Given the description of an element on the screen output the (x, y) to click on. 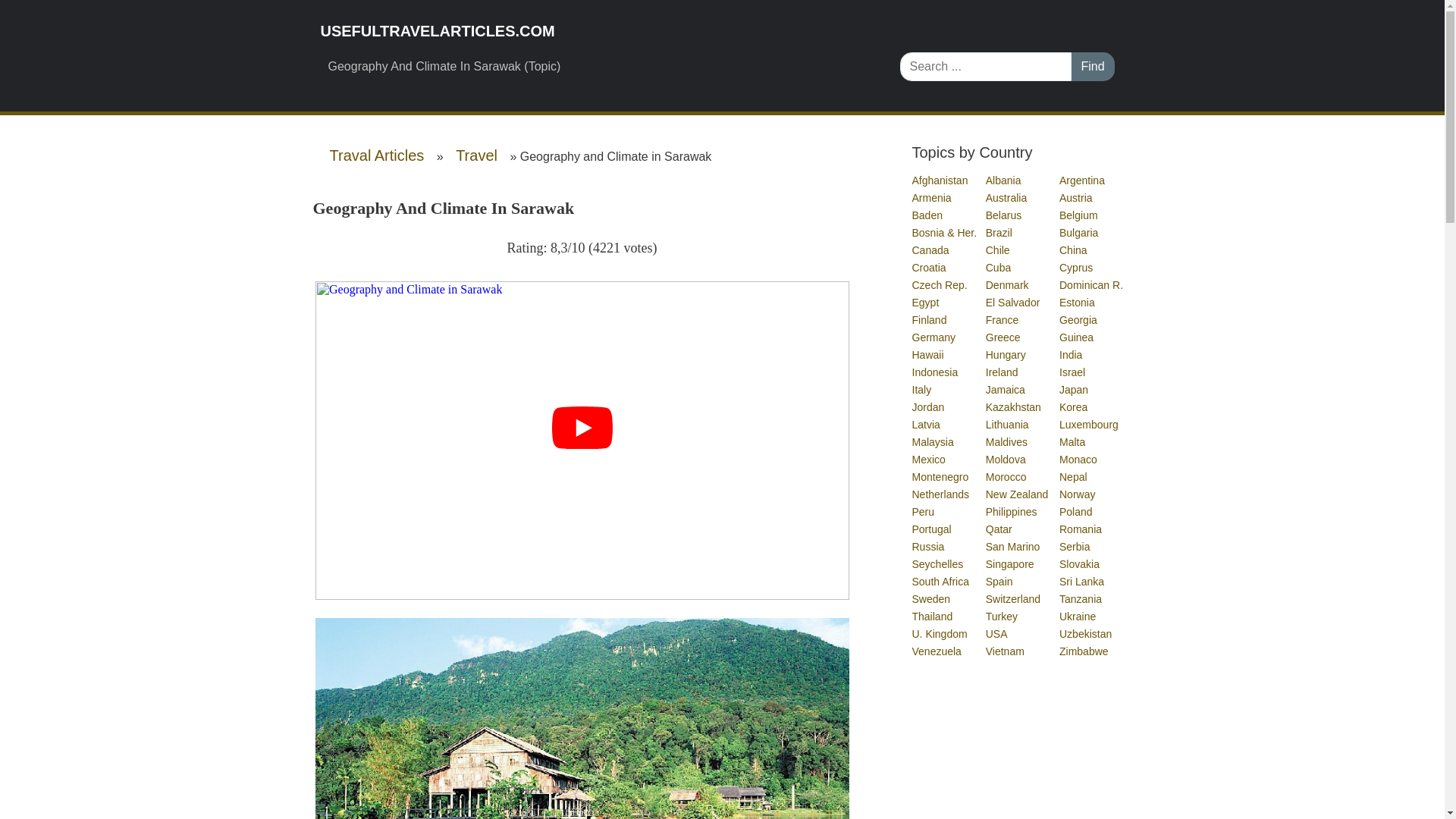
Traval Articles (376, 155)
Armenia (931, 197)
Georgia (1079, 319)
Argentina (1082, 180)
Finland (929, 319)
Austria (1076, 197)
Baden (927, 215)
Croatia (929, 267)
Afghanistan (940, 180)
Australia (1006, 197)
